Given the description of an element on the screen output the (x, y) to click on. 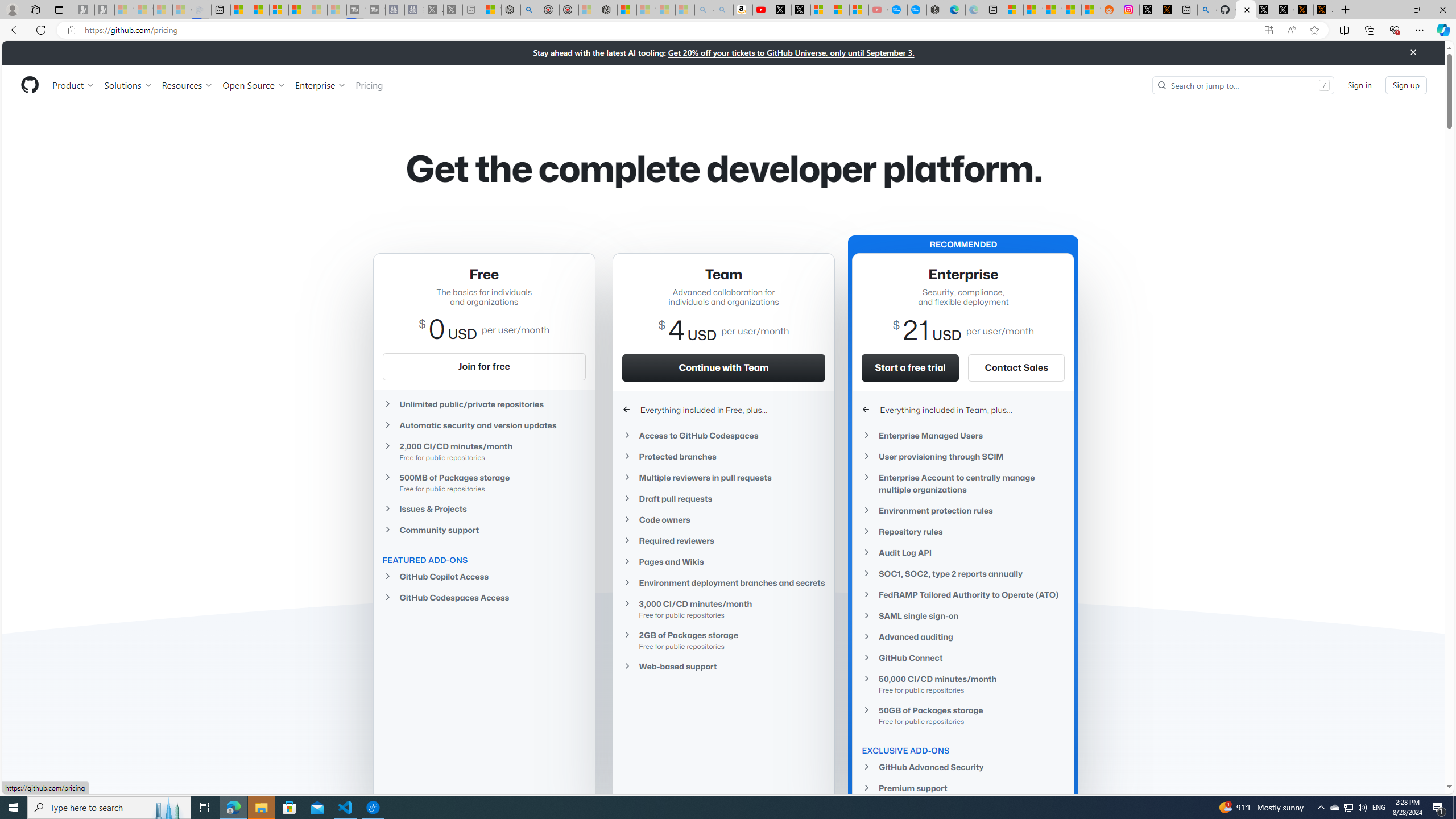
GitHub Connect (963, 658)
Audit Log API (963, 552)
Web-based support (723, 666)
Nordace - Summer Adventures 2024 (510, 9)
Resources (187, 84)
Enterprise Managed Users (963, 435)
App bar (728, 29)
Newsletter Sign Up - Sleeping (104, 9)
Multiple reviewers in pull requests (723, 477)
GitHub Copilot Access (483, 576)
Gloom - YouTube - Sleeping (877, 9)
Draft pull requests (723, 498)
